Given the description of an element on the screen output the (x, y) to click on. 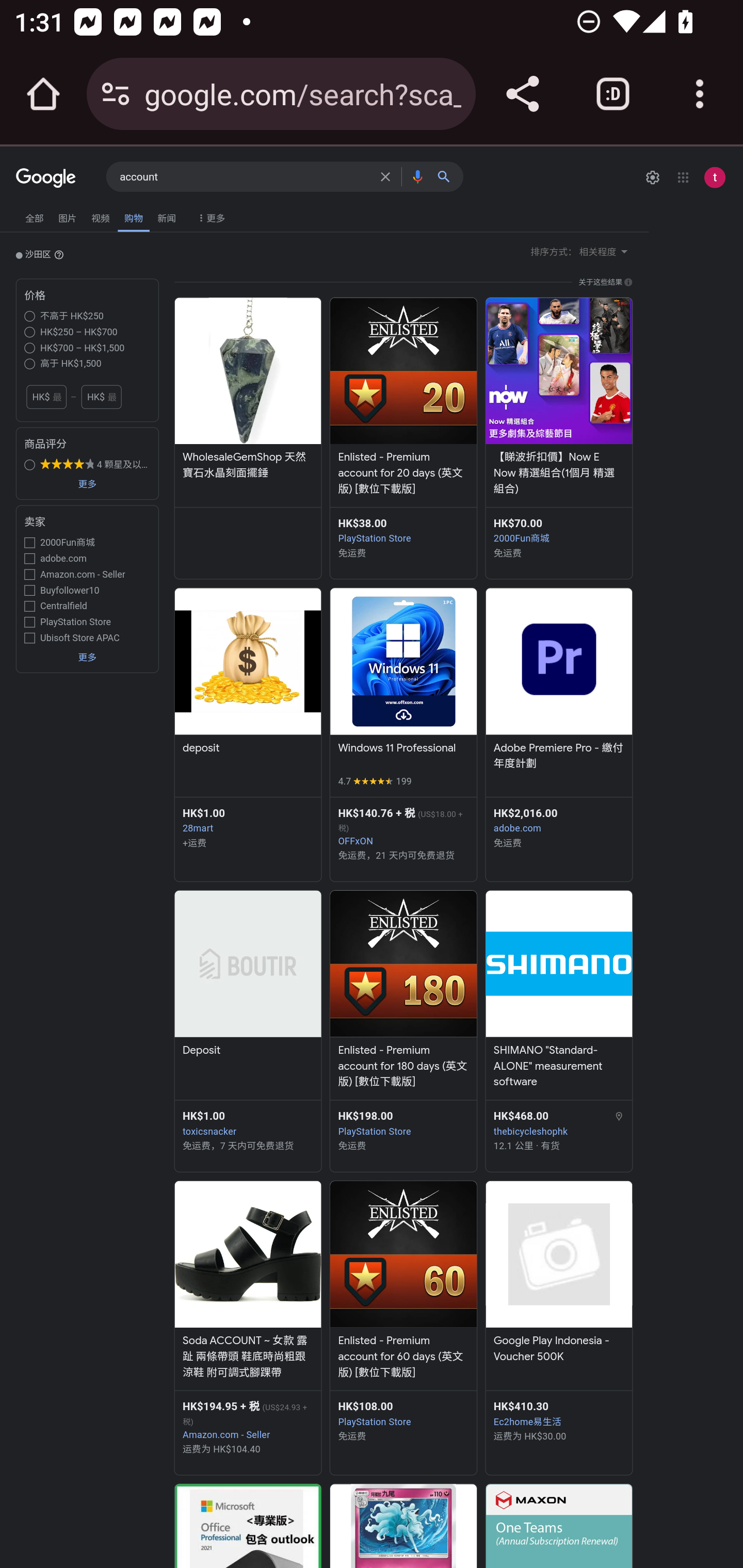
Open the home page (43, 93)
Connection is secure (115, 93)
Share (522, 93)
Switch or close tabs (612, 93)
Customize and control Google Chrome (699, 93)
清除 (388, 176)
按语音搜索 (417, 176)
Google 搜索 (448, 176)
设置 (652, 176)
Google 应用 (682, 176)
Google 账号： test appium (testappium002@gmail.com) (714, 176)
Google (46, 178)
account (245, 177)
全部 (33, 216)
图片 (67, 216)
视频 (100, 216)
购物 (133, 216)
新闻 (166, 216)
More Filters (208, 212)
排序方式： 相关程度 (580, 250)
WholesaleGemShop 天然寶石水晶刻面擺錘 (247, 465)
【睇波折扣價】Now E Now 精選組合(1個月 精選組合) (558, 473)
HK$70.00. 2000Fun商城 HK$70.00. 2000Fun商城 (558, 529)
deposit (247, 747)
Adobe Premiere Pro - 繳付年度計劃 (558, 755)
HK$1.00. 28mart HK$1.00. 28mart (247, 819)
HK$2,016.00. adobe.com HK$2,016.00. adobe.com (558, 819)
+运费 . 在新窗口中访问28mart的网站 +运费 . 在新窗口中访问28mart的网站 (247, 842)
Deposit (247, 1050)
HK$1.00. toxicsnacker HK$1.00. toxicsnacker (247, 1122)
Soda ACCOUNT ~ 女款 露趾 兩條帶頭 鞋底時尚粗跟涼鞋 附可調式腳踝帶 (247, 1356)
Google Play Indonesia - Voucher 500K (558, 1348)
HK$410.30. Ec2home易生活 HK$410.30. Ec2home易生活 (558, 1414)
